Given the description of an element on the screen output the (x, y) to click on. 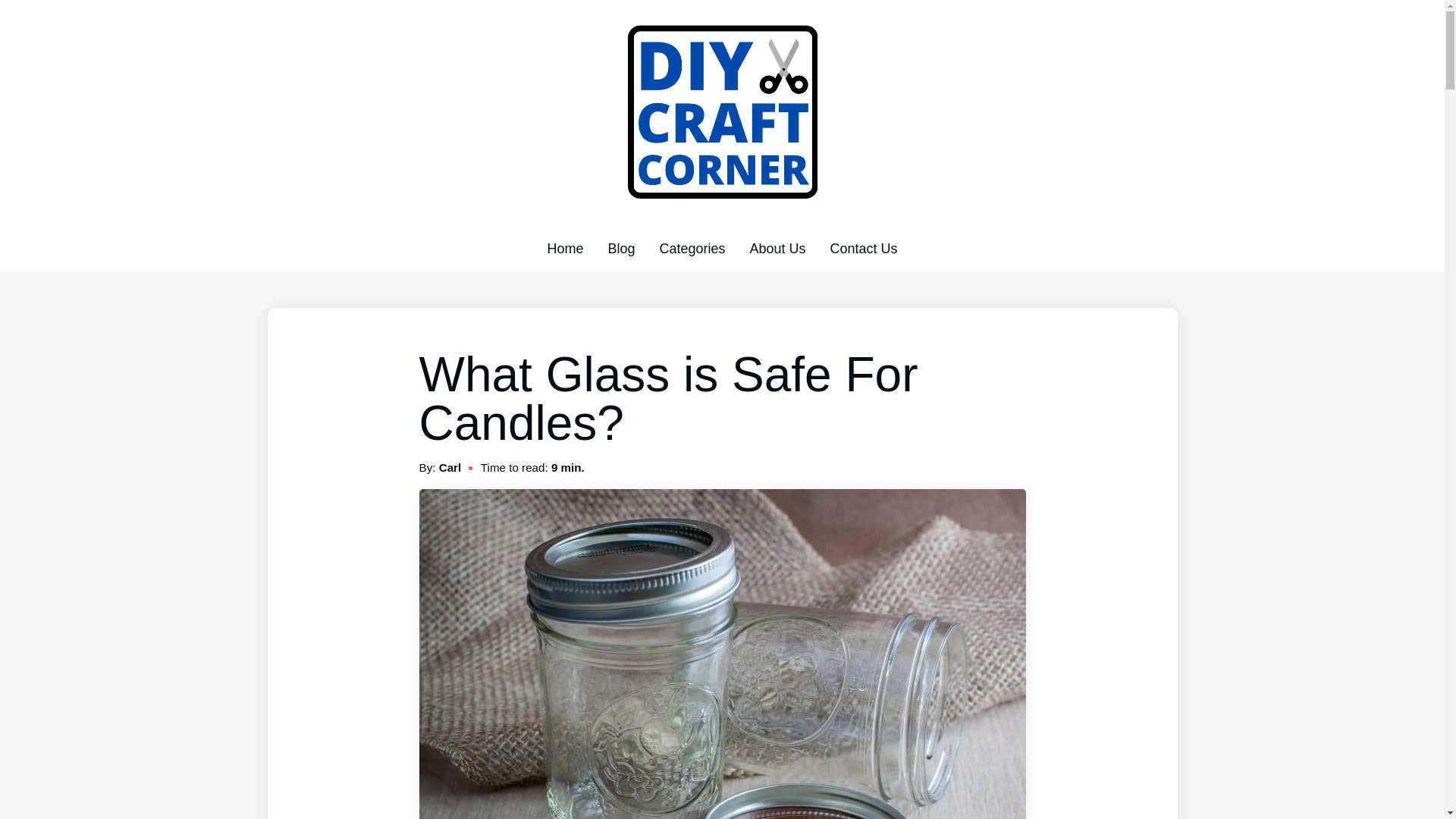
Categories (692, 248)
Contact Us (863, 248)
Home (565, 248)
Blog (620, 248)
About Us (777, 248)
